Given the description of an element on the screen output the (x, y) to click on. 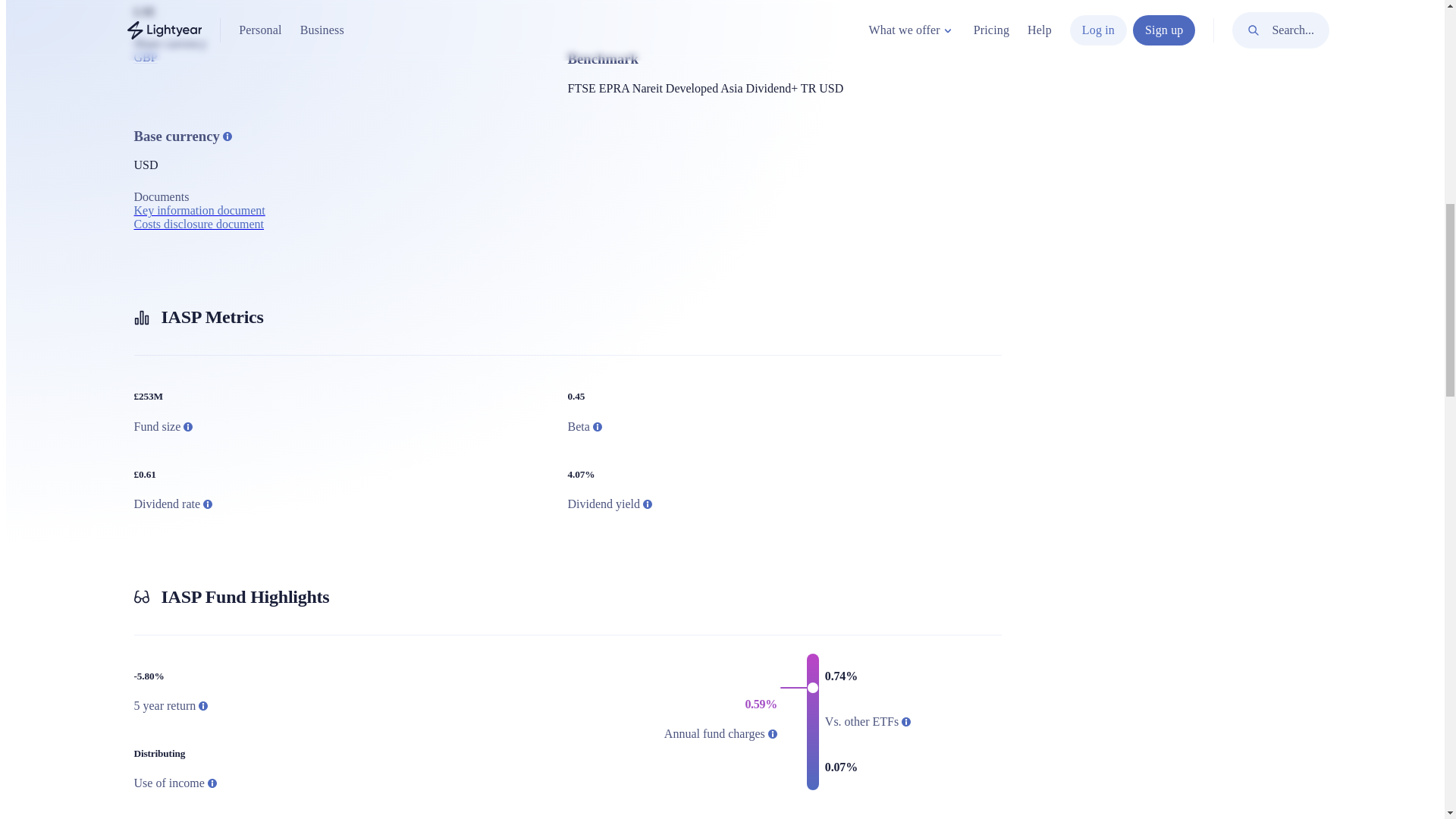
Key information document (198, 210)
Costs disclosure document (198, 223)
GBP (145, 56)
